Given the description of an element on the screen output the (x, y) to click on. 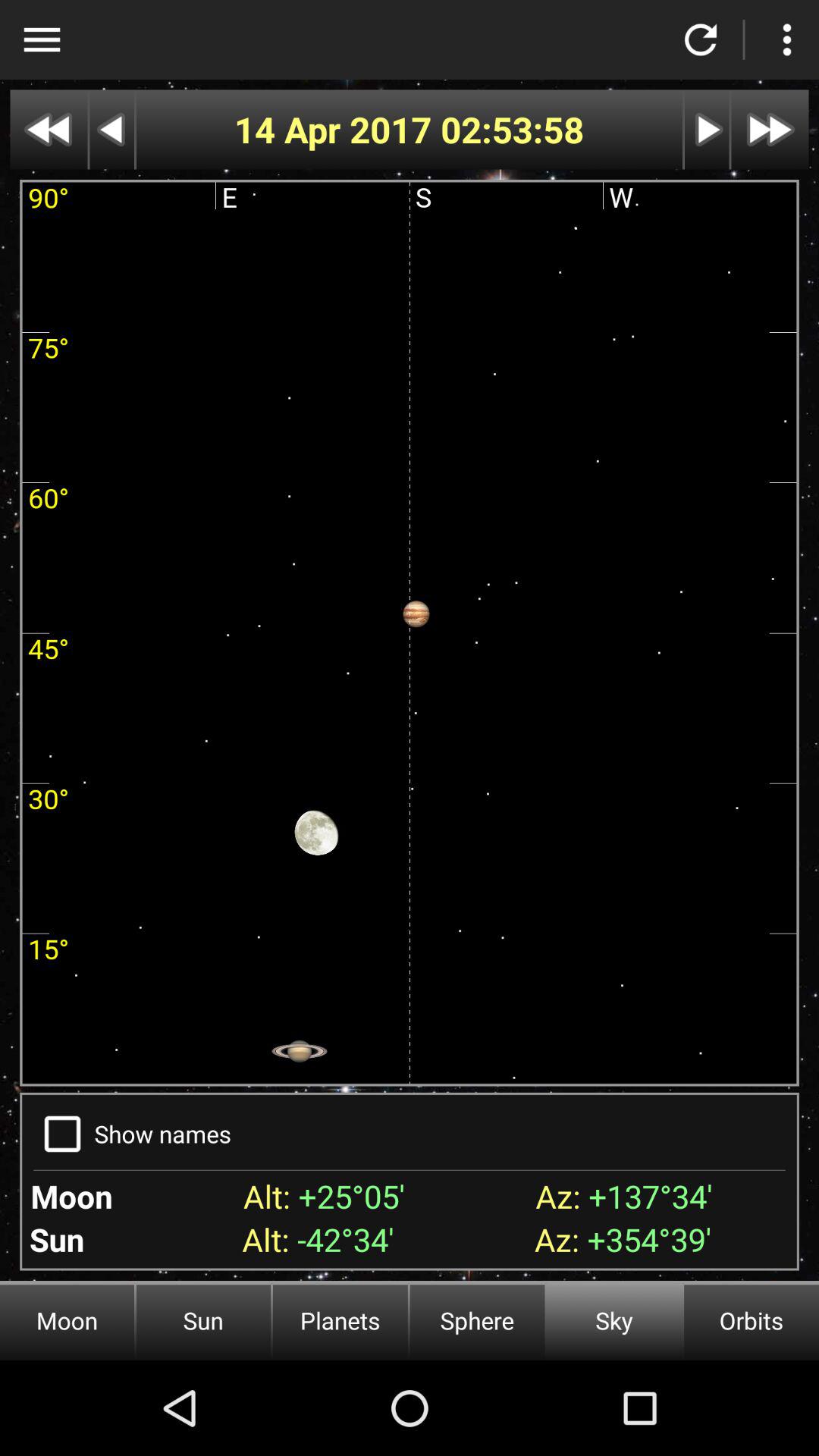
referch tha page (700, 39)
